Given the description of an element on the screen output the (x, y) to click on. 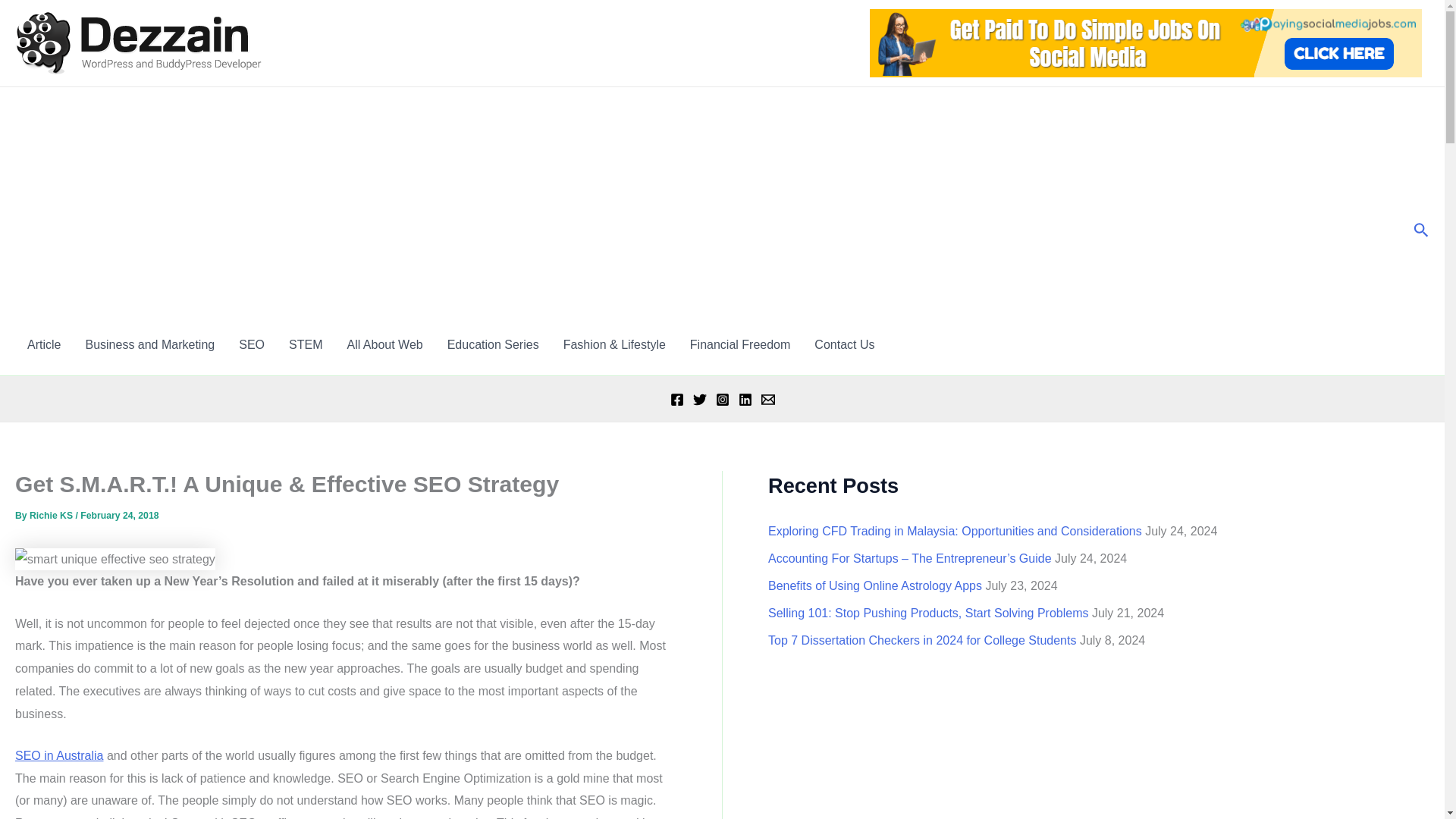
Financial Freedom (740, 344)
Richie KS (52, 515)
Search (1421, 231)
Education Series (493, 344)
SEO (251, 344)
STEM (305, 344)
Business and Marketing (149, 344)
any inquiries? (844, 344)
All About Web (383, 344)
View all posts by Richie KS (52, 515)
Contact Us (844, 344)
SEO in Australia (58, 755)
Article (43, 344)
